Given the description of an element on the screen output the (x, y) to click on. 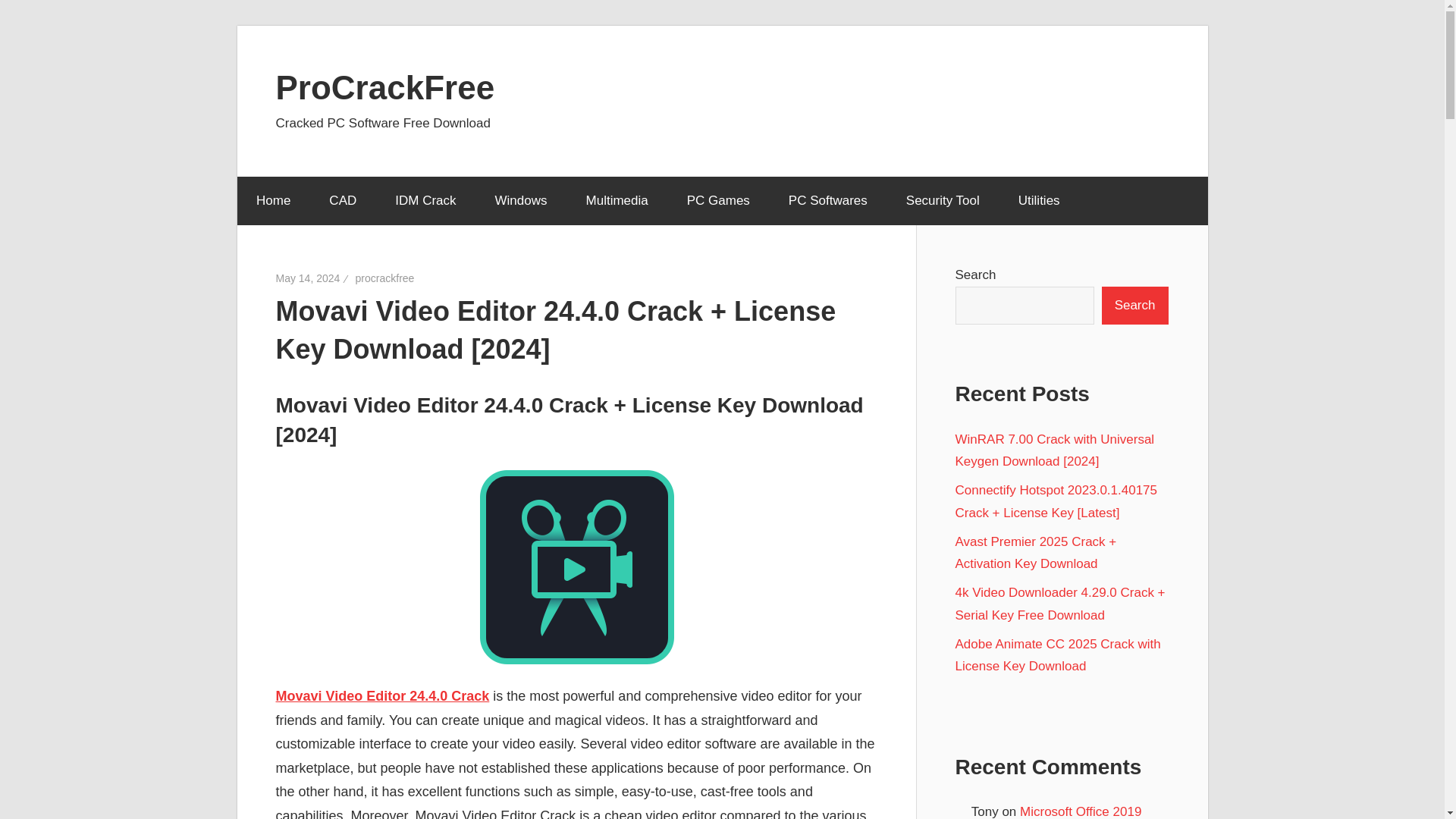
1:19 am (308, 277)
Movavi Video Editor 24.4.0 Crack (382, 695)
Windows (521, 200)
Home (271, 200)
procrackfree (384, 277)
View all posts by procrackfree (384, 277)
May 14, 2024 (308, 277)
ProCrackFree (385, 86)
PC Softwares (827, 200)
Utilities (1043, 200)
Multimedia (616, 200)
CAD (342, 200)
IDM Crack (425, 200)
Security Tool (942, 200)
